Given the description of an element on the screen output the (x, y) to click on. 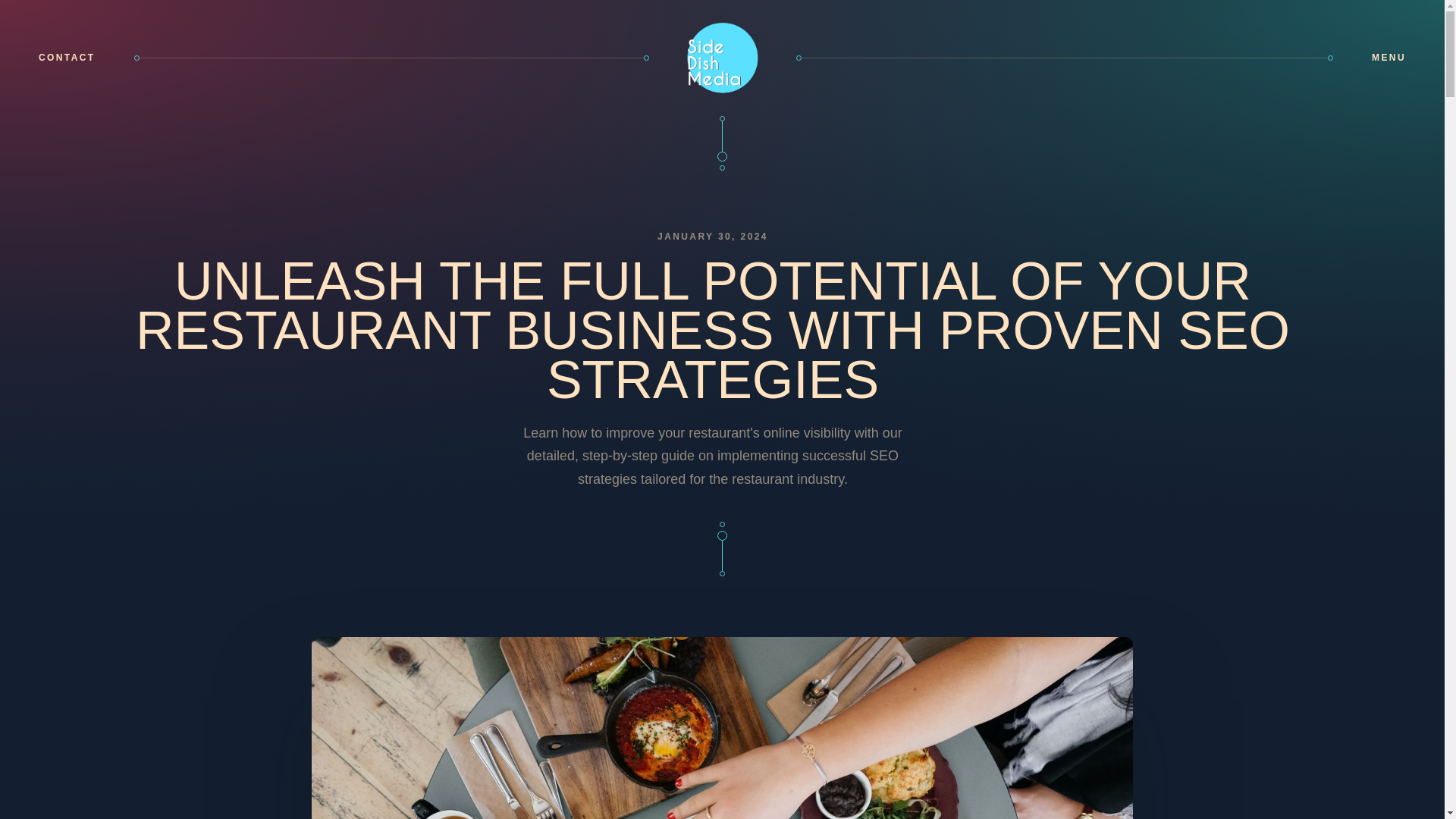
CONTACT (67, 58)
